Given the description of an element on the screen output the (x, y) to click on. 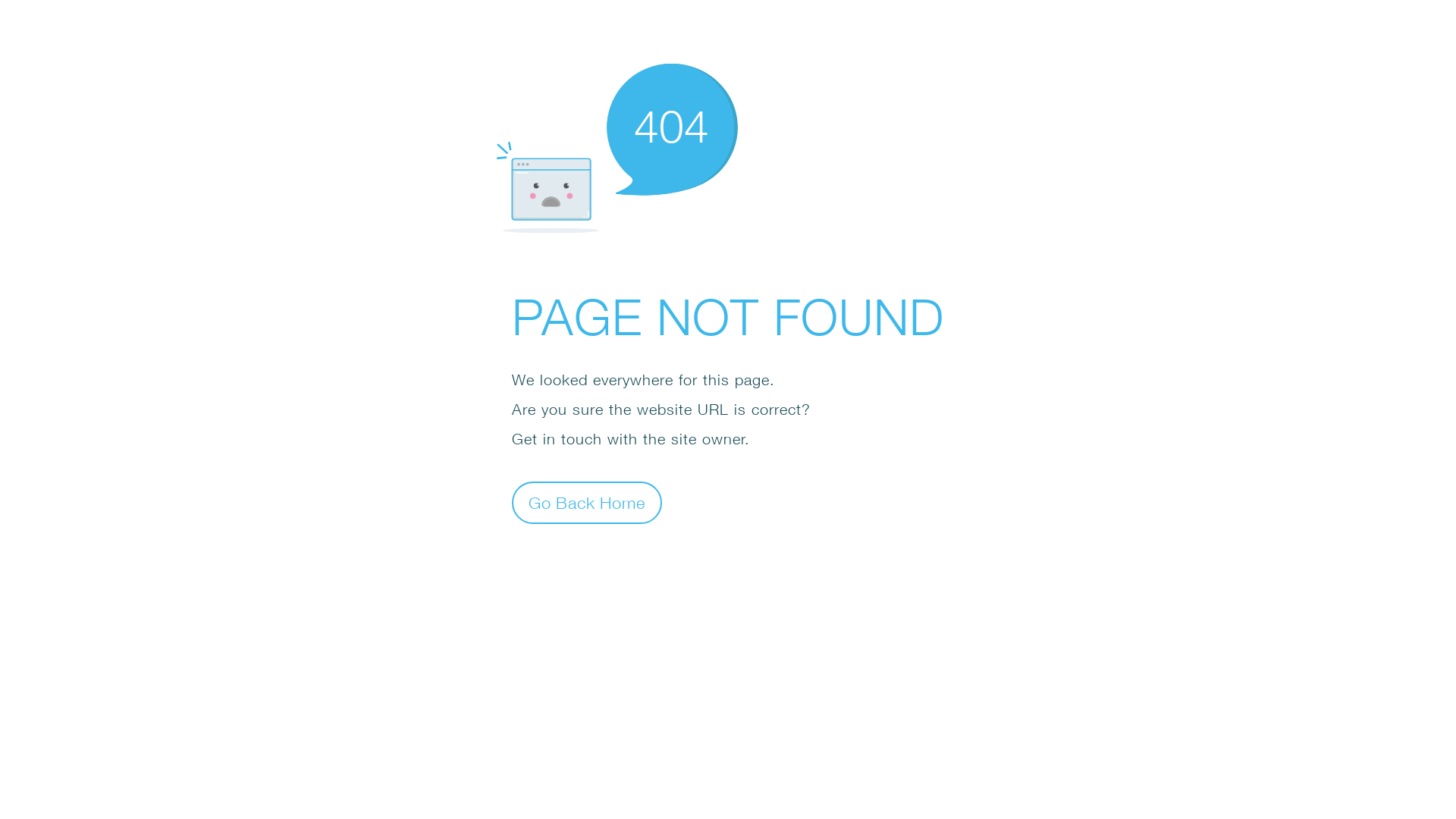
Go Back Home Element type: text (586, 502)
